Given the description of an element on the screen output the (x, y) to click on. 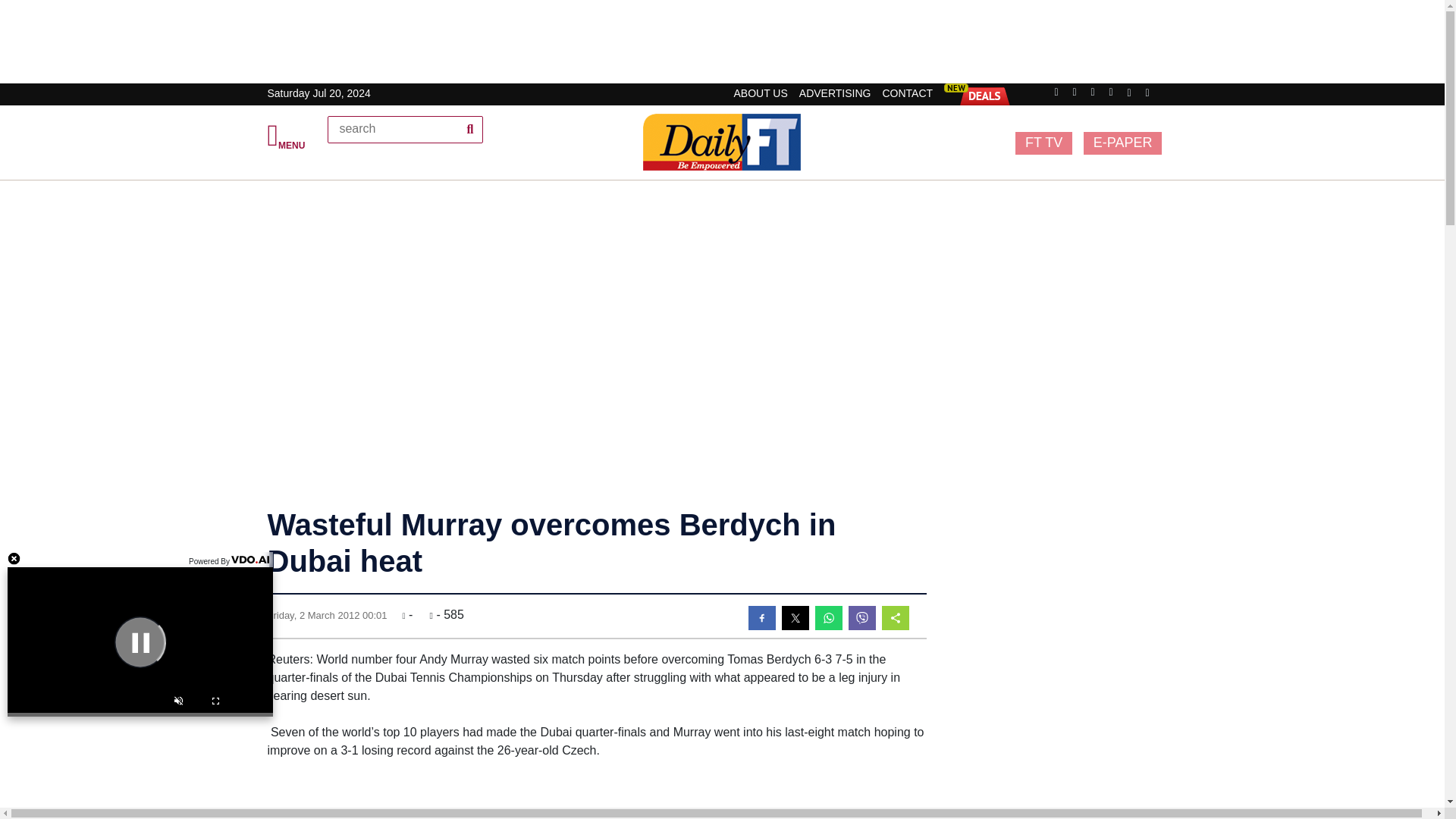
Unmute (178, 703)
Pause (139, 641)
Fullscreen (215, 703)
